Given the description of an element on the screen output the (x, y) to click on. 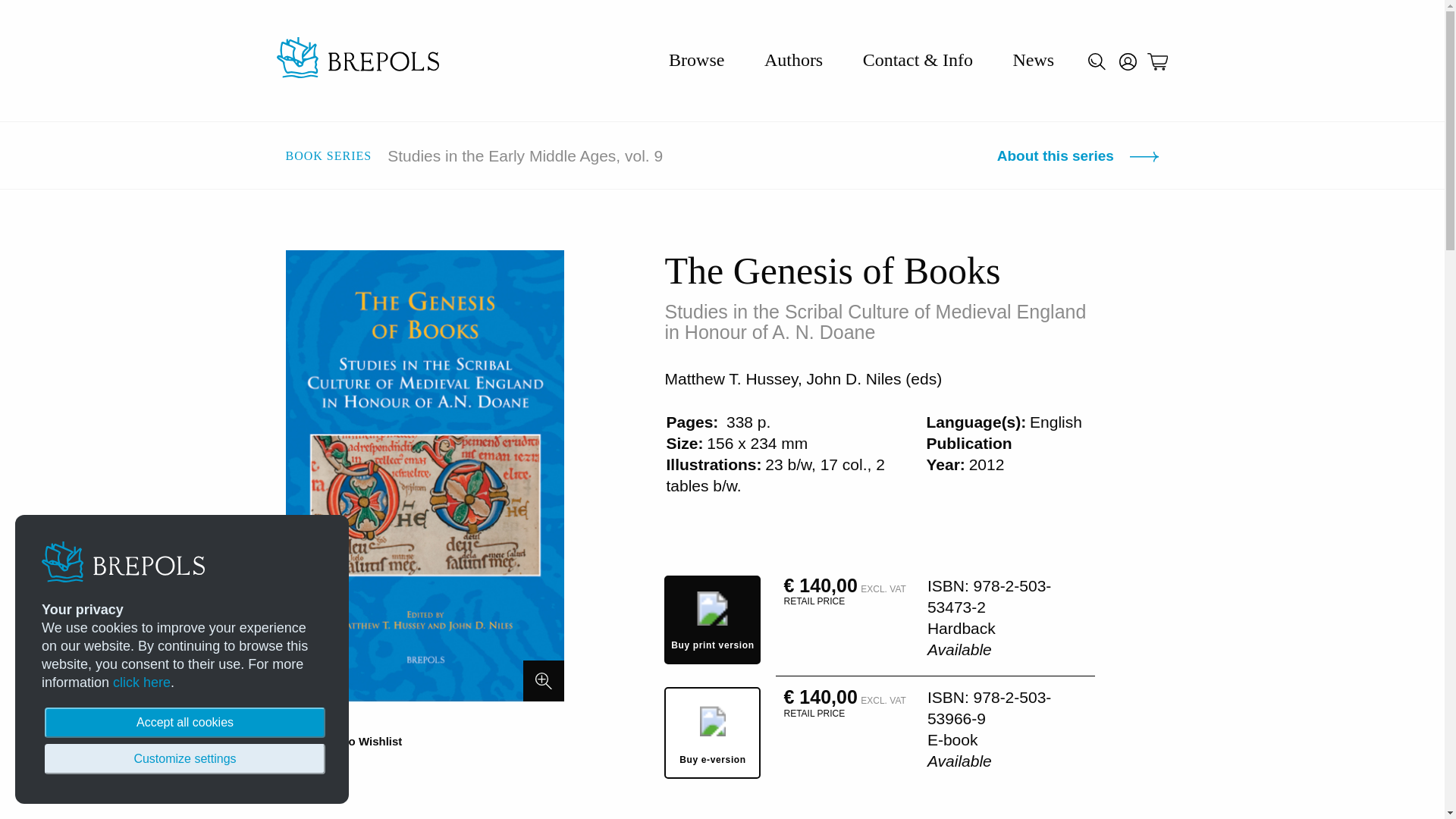
Matthew T. Hussey (729, 378)
Contact (917, 59)
About this series (1077, 155)
Browse (695, 59)
Authors (793, 59)
Brepols Publishers (357, 59)
Buy print version (711, 620)
Authors (793, 59)
Browse (695, 59)
Add to Wishlist (343, 740)
News (1032, 59)
John D. Niles (853, 378)
Buy e-version (711, 732)
